Given the description of an element on the screen output the (x, y) to click on. 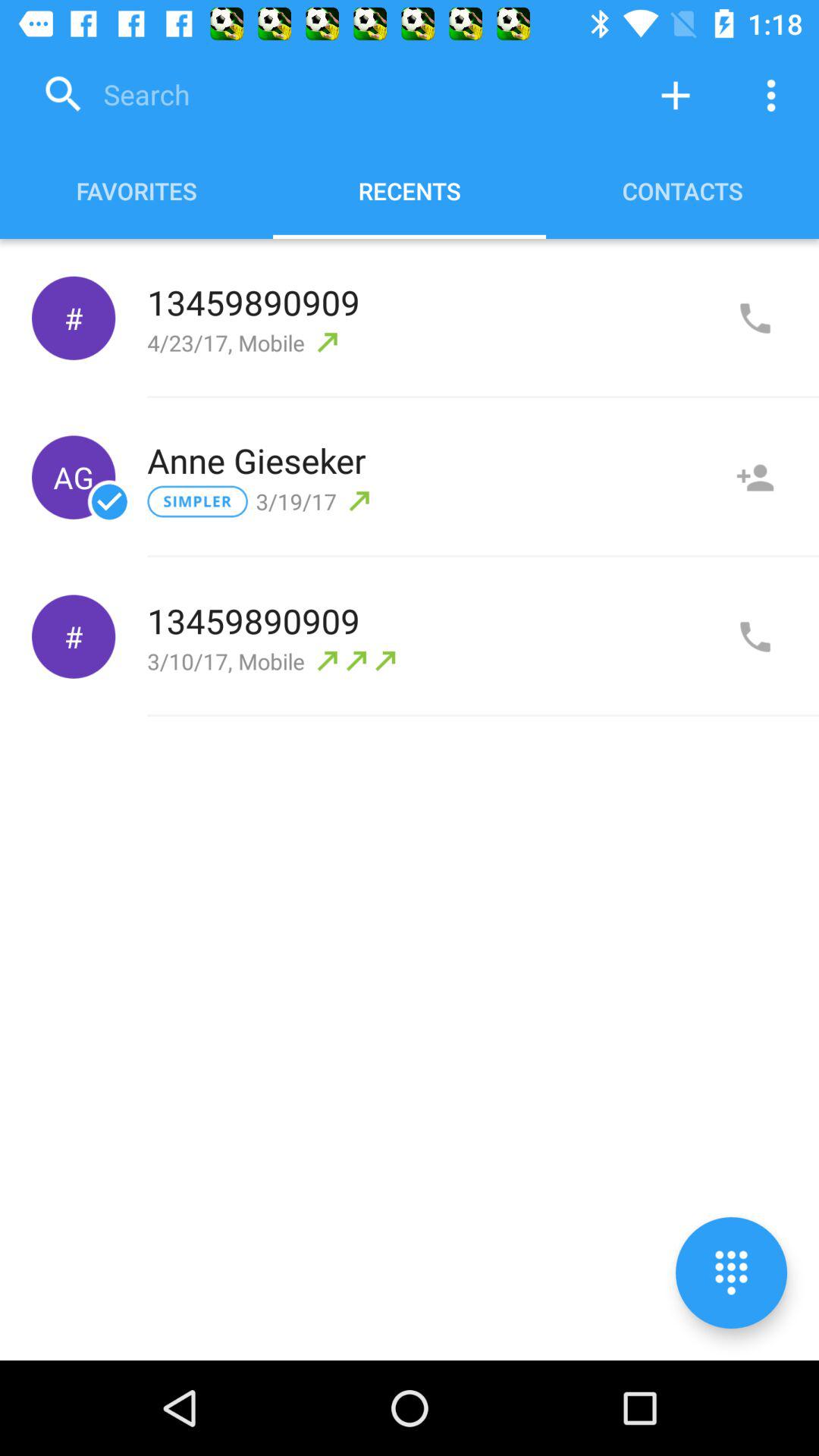
go to add call (755, 318)
